Given the description of an element on the screen output the (x, y) to click on. 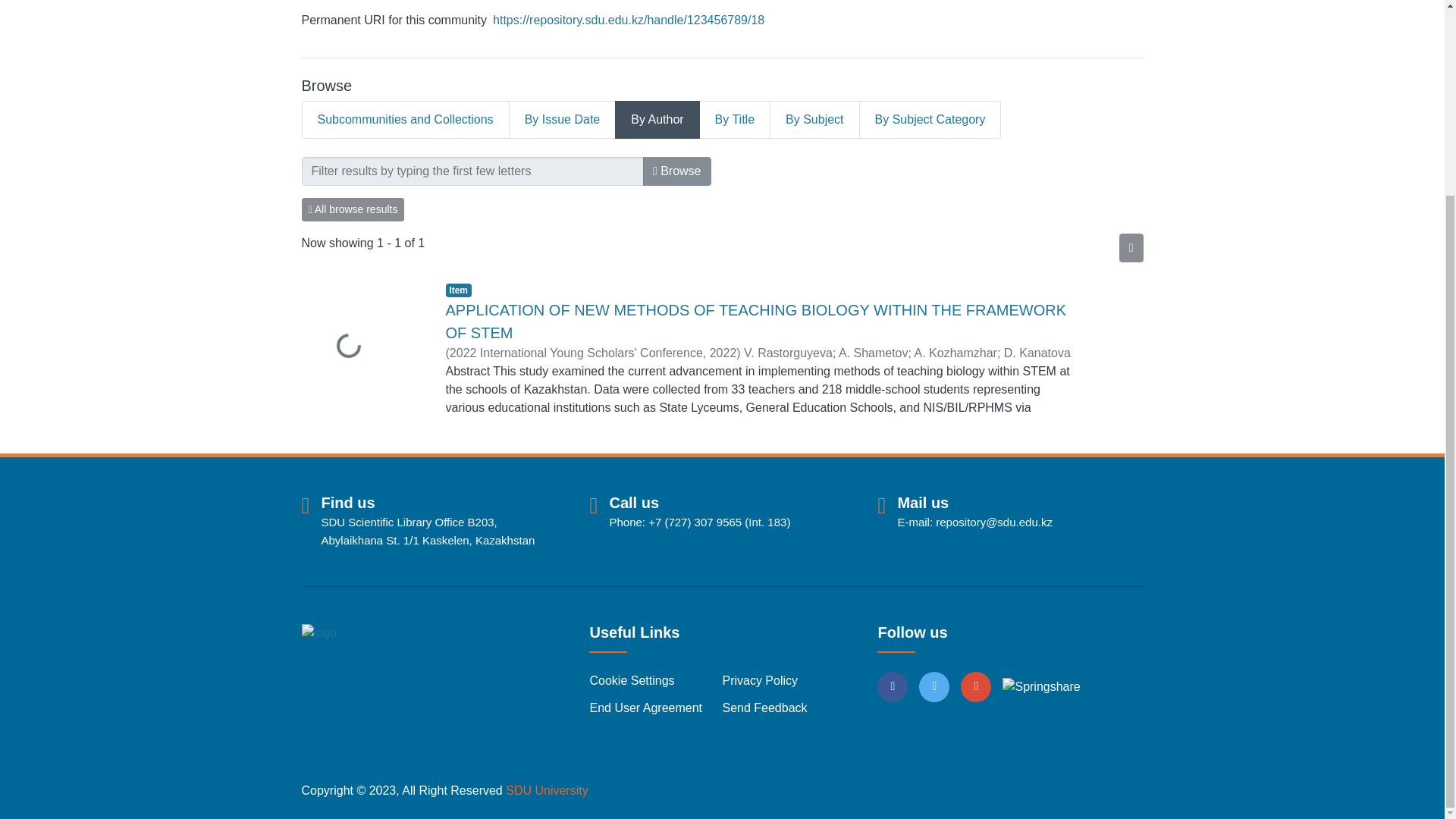
By Author (656, 119)
By Title (735, 119)
By Subject Category (930, 119)
Browse (677, 171)
Loading... (362, 347)
By Issue Date (562, 119)
Subcommunities and Collections (405, 119)
By Subject (814, 119)
All browse results (352, 209)
